Given the description of an element on the screen output the (x, y) to click on. 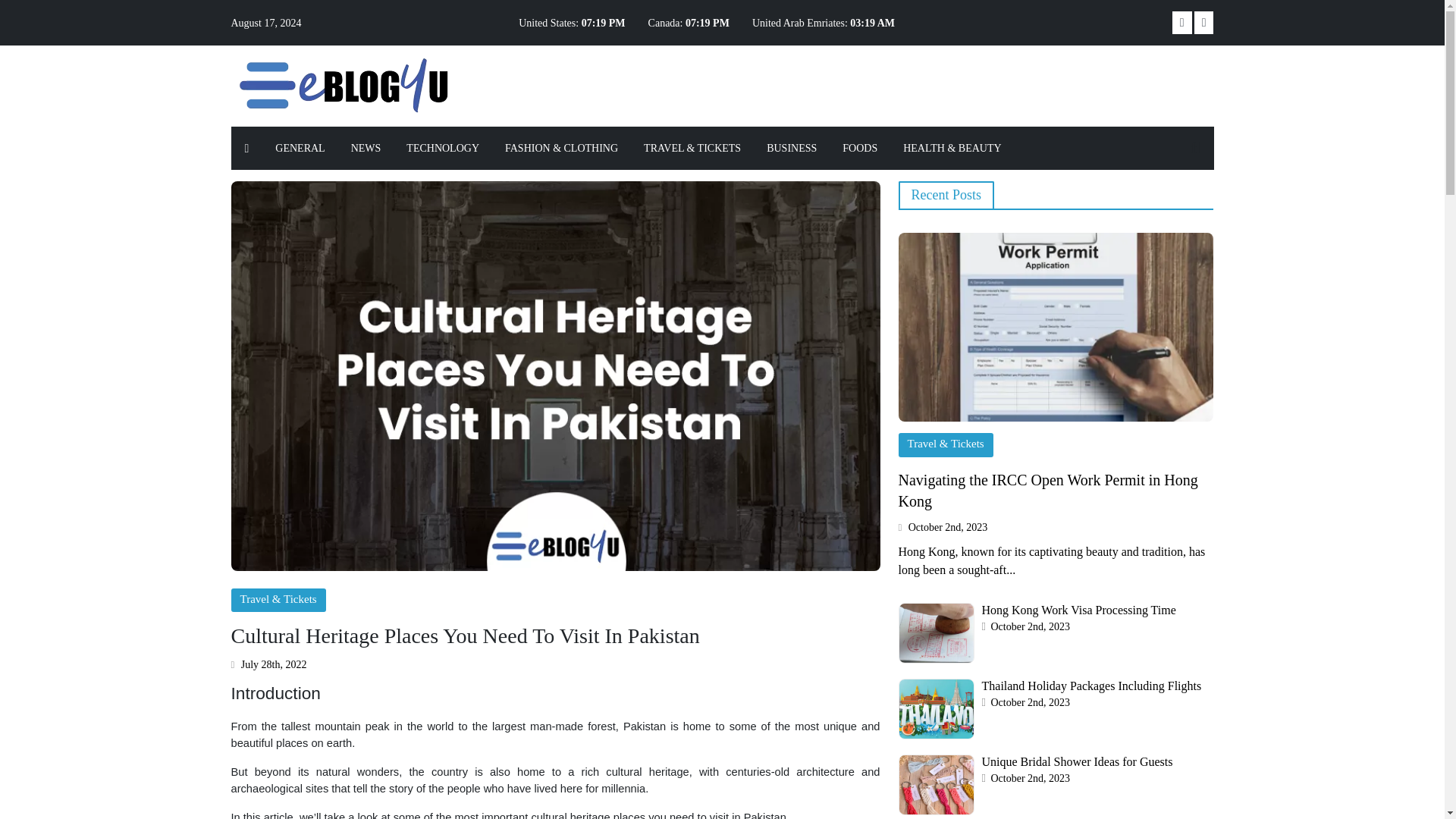
July 28th, 2022 (267, 664)
NEWS (365, 147)
TECHNOLOGY (442, 147)
BUSINESS (791, 147)
FOODS (860, 147)
Advertisement (821, 83)
GENERAL (299, 147)
